Given the description of an element on the screen output the (x, y) to click on. 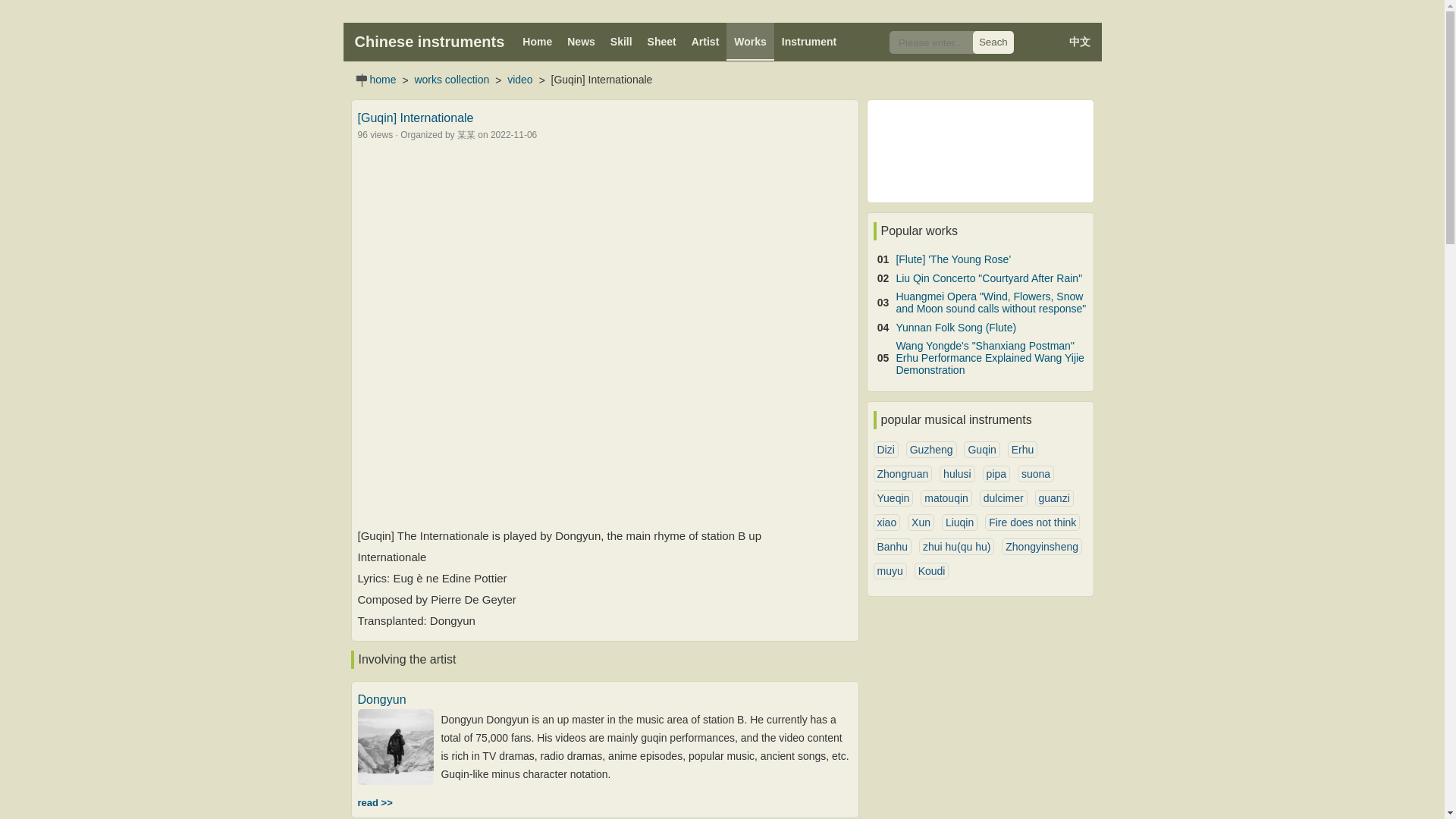
Dongyun (382, 698)
Skill (621, 41)
home (382, 78)
Chinese instruments (430, 41)
Sheet (662, 41)
Artist (705, 41)
News (580, 41)
works collection (451, 78)
Home (537, 41)
video (519, 78)
